Given the description of an element on the screen output the (x, y) to click on. 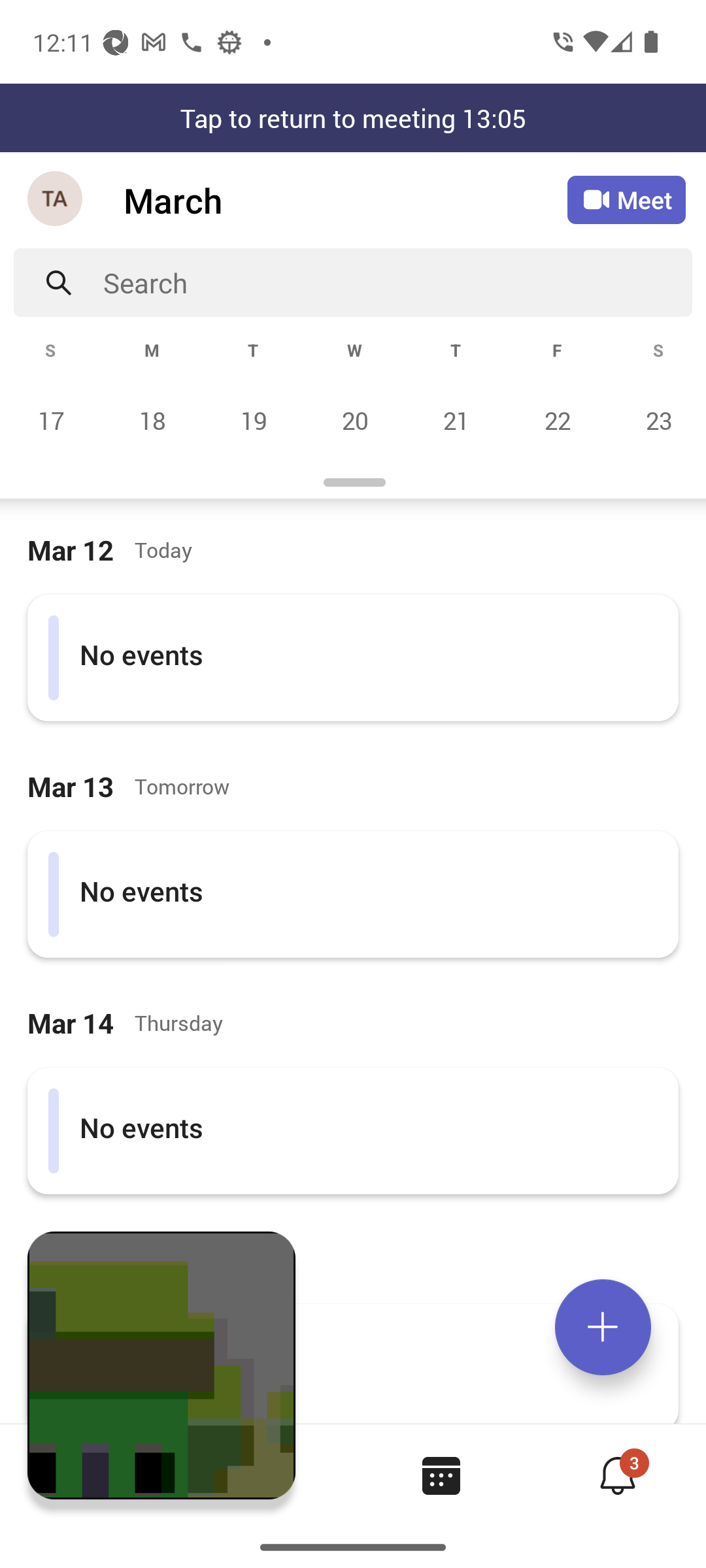
Tap to return to meeting 13:05 (353, 117)
Navigation (56, 199)
Meet Meet now or join with an ID (626, 199)
March March Calendar Agenda View (345, 199)
Search (397, 281)
Sunday, March 17 17 (50, 420)
Monday, March 18 18 (151, 420)
Tuesday, March 19 19 (253, 420)
Wednesday, March 20 20 (354, 420)
Thursday, March 21 21 (455, 420)
Friday, March 22 22 (556, 420)
Saturday, March 23 23 (656, 420)
Expand meetings menu (602, 1327)
Calendar tab, 3 of 4 (441, 1475)
Activity tab,4 of 4, not selected, 3 new 3 (617, 1475)
